Given the description of an element on the screen output the (x, y) to click on. 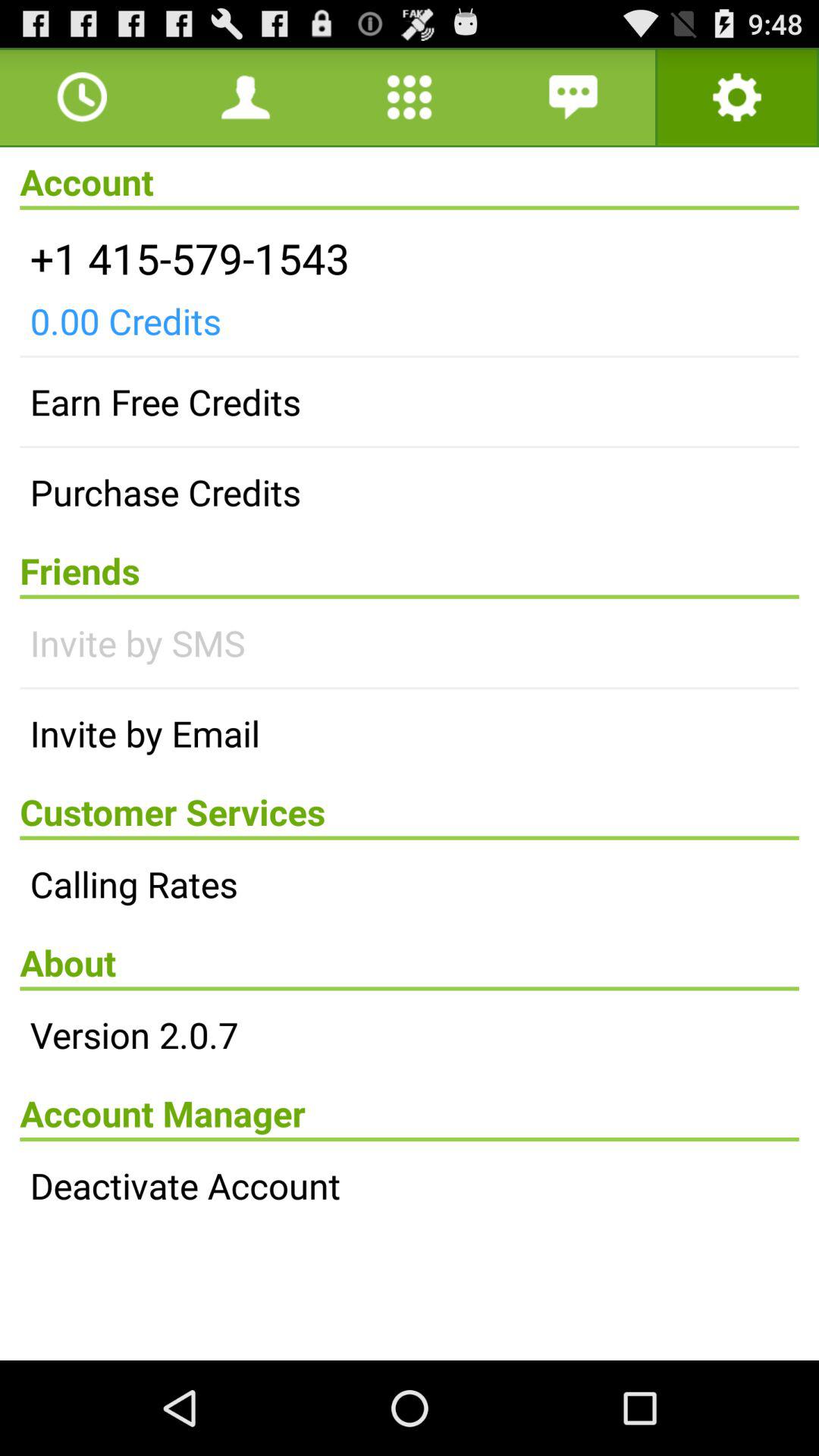
jump until the version 2 0 (409, 1034)
